Given the description of an element on the screen output the (x, y) to click on. 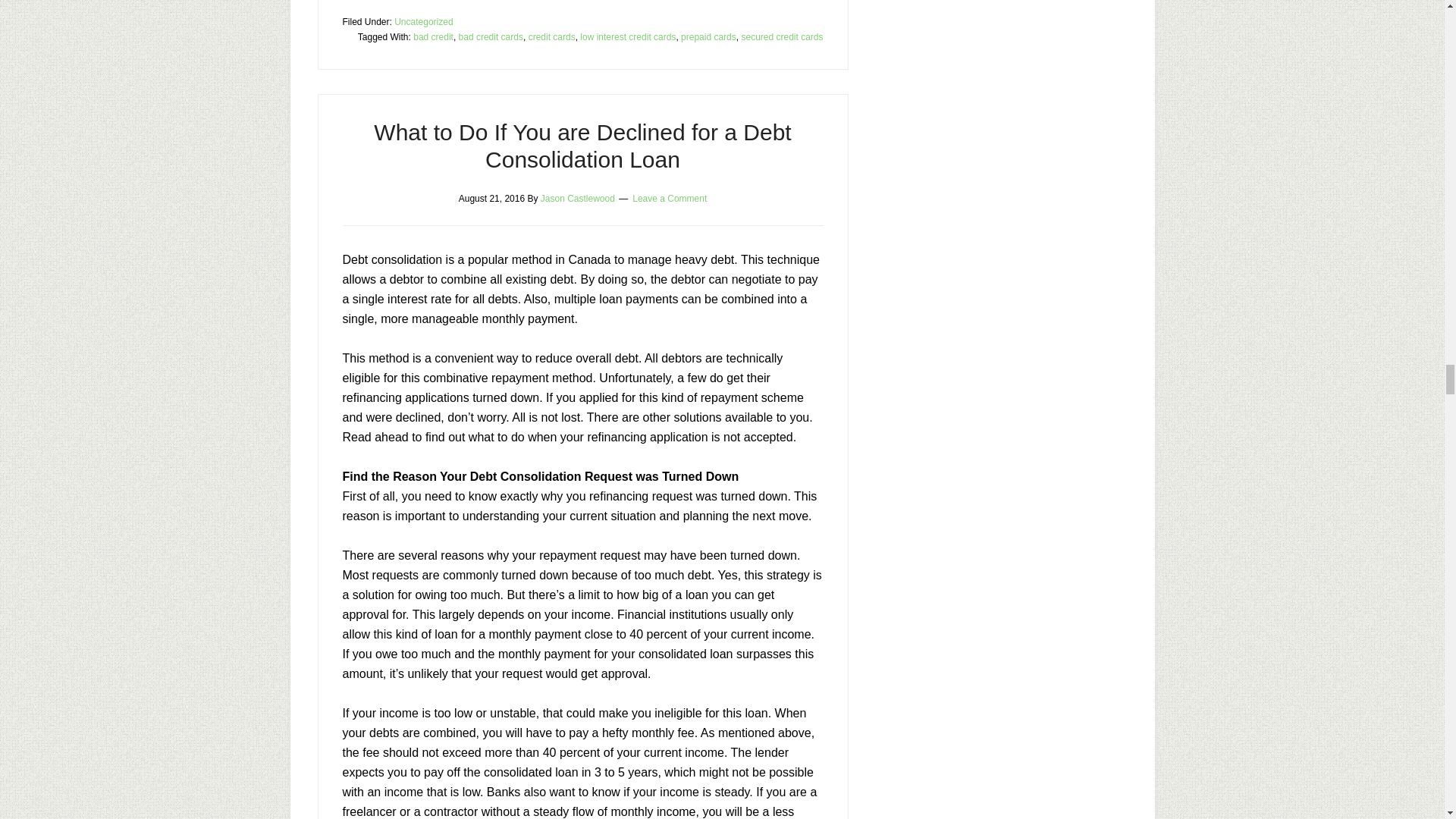
bad credit cards (490, 36)
low interest credit cards (627, 36)
prepaid cards (708, 36)
secured credit cards (781, 36)
Leave a Comment (668, 198)
Jason Castlewood (577, 198)
credit cards (551, 36)
bad credit (432, 36)
What to Do If You are Declined for a Debt Consolidation Loan (582, 145)
Uncategorized (423, 21)
